Given the description of an element on the screen output the (x, y) to click on. 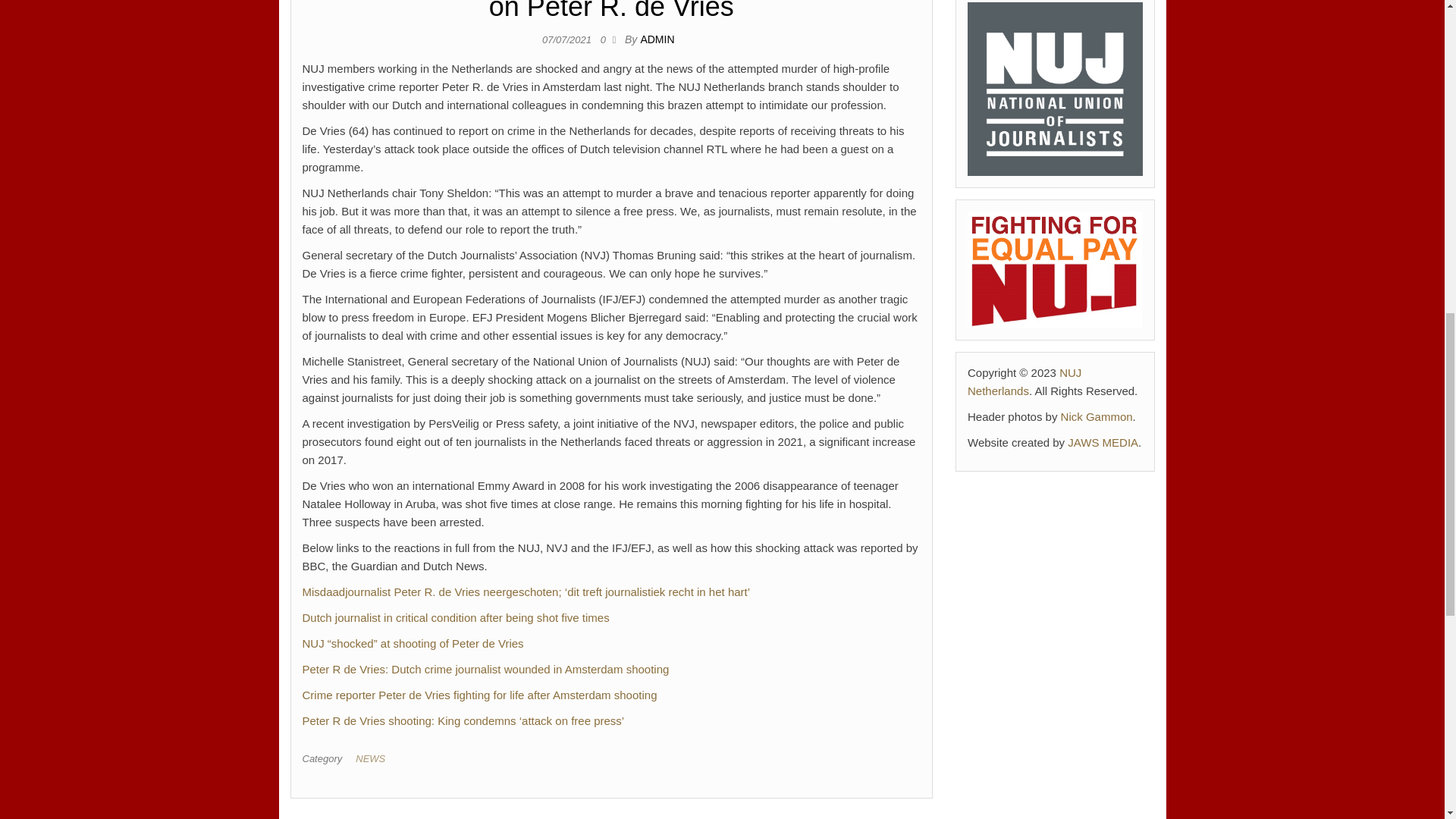
Nick Gammon (1096, 416)
JAWS MEDIA (1102, 441)
0 (605, 39)
NUJ Netherlands (1024, 381)
NEWS (373, 758)
ADMIN (657, 39)
